Given the description of an element on the screen output the (x, y) to click on. 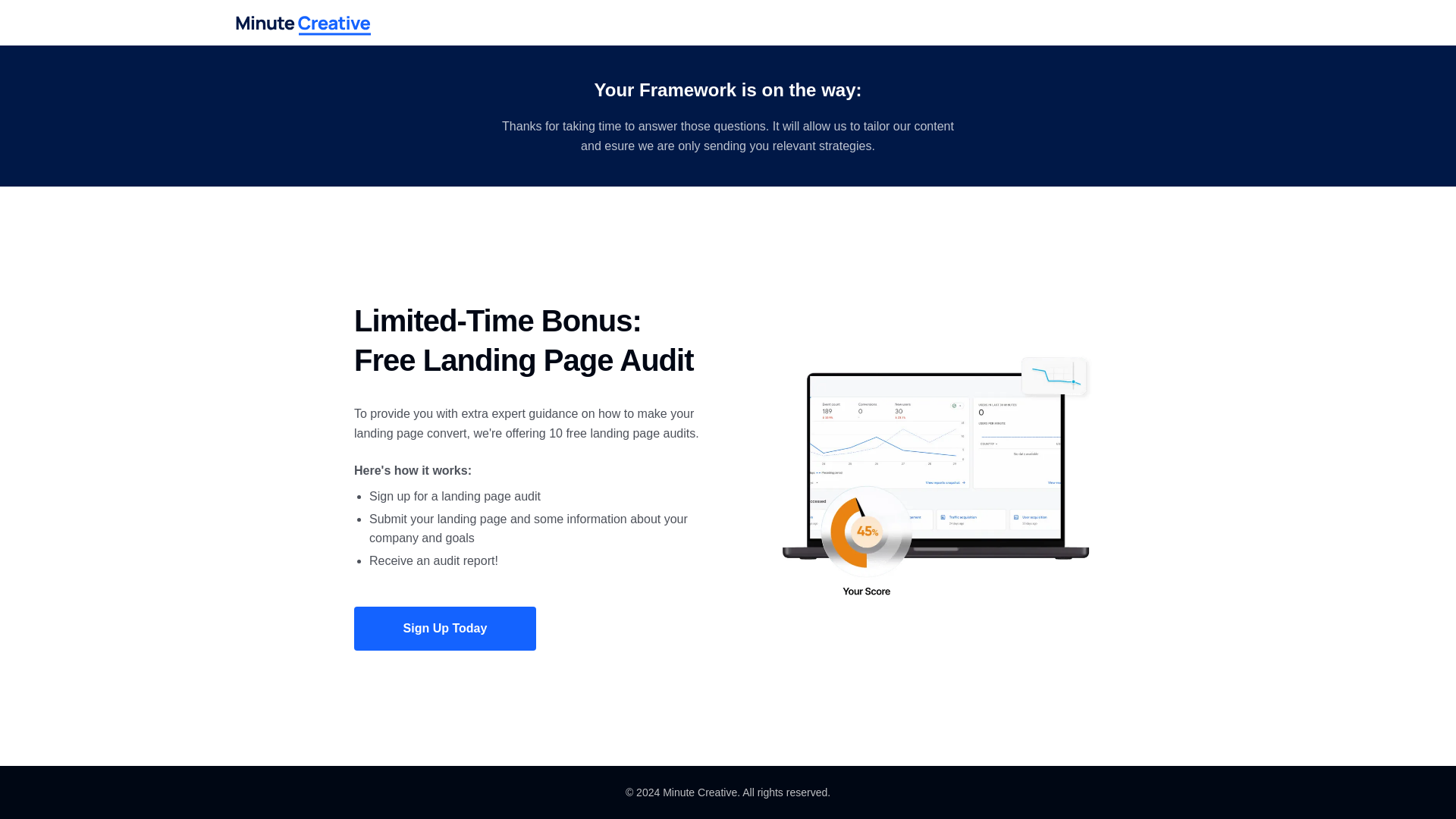
Sign Up Today (444, 628)
